Given the description of an element on the screen output the (x, y) to click on. 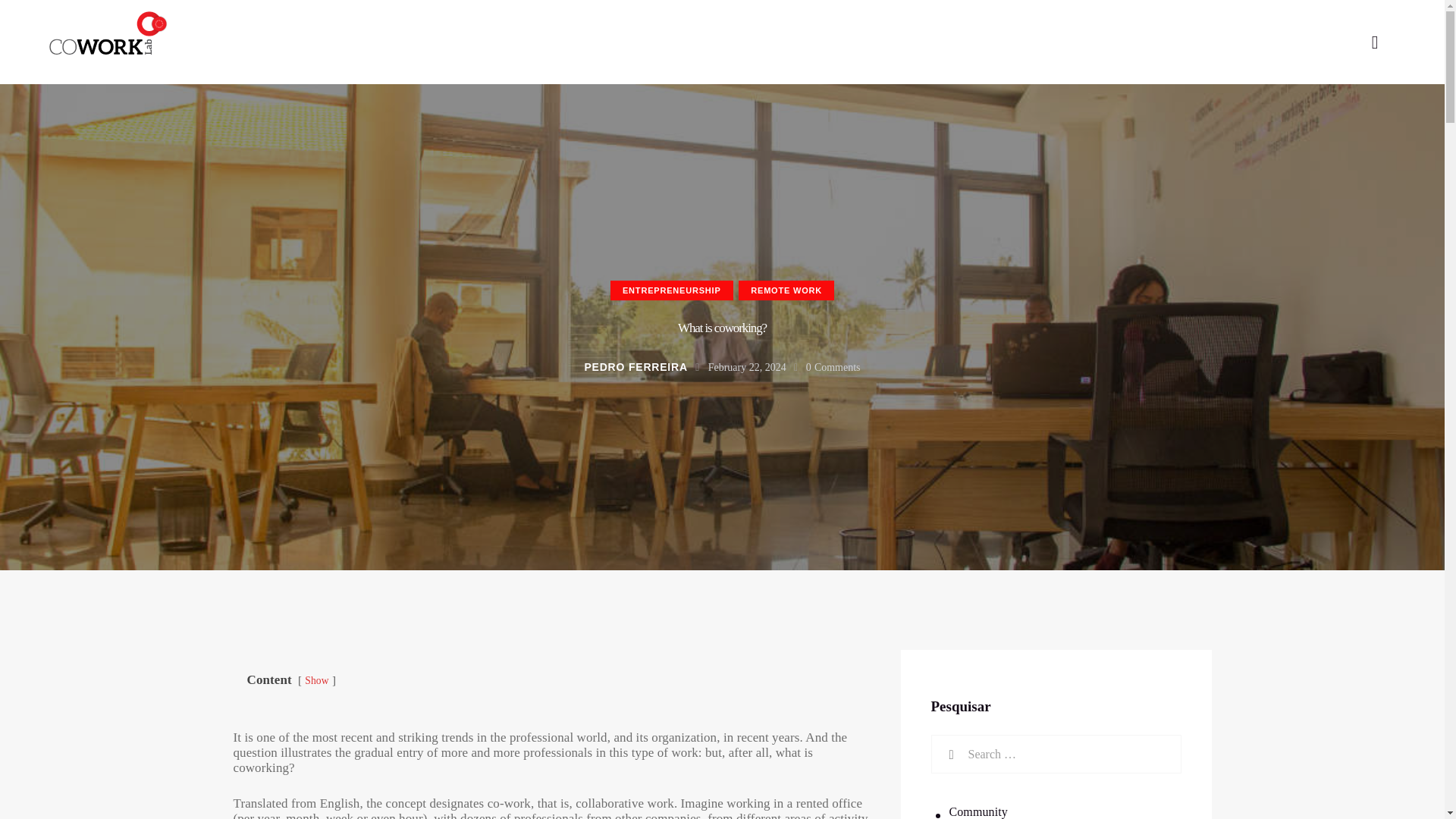
Show (316, 680)
ENTREPRENEURSHIP (671, 291)
PEDRO FERREIRA (643, 367)
REMOTE WORK (786, 291)
0Comments (833, 367)
